Given the description of an element on the screen output the (x, y) to click on. 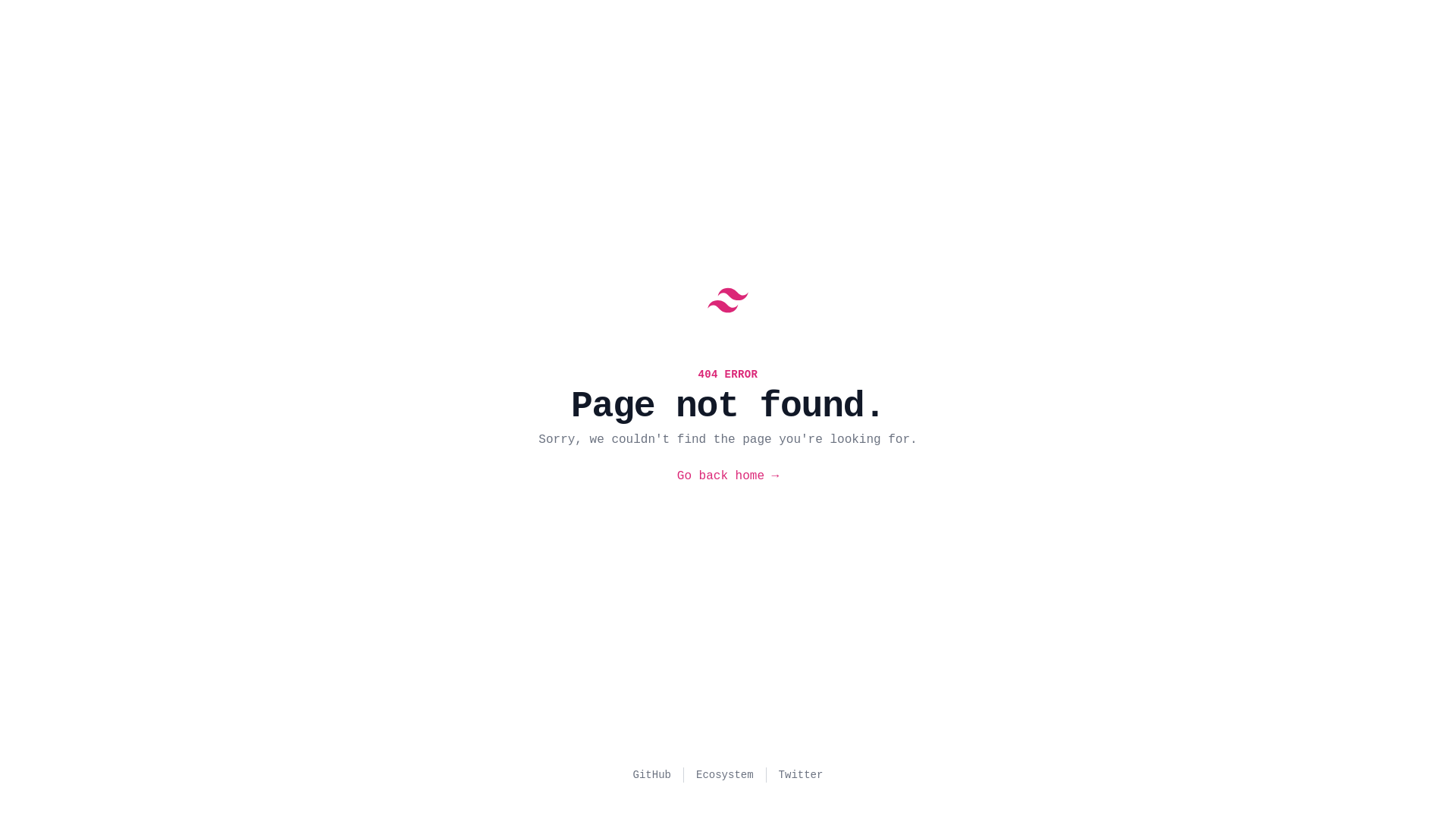
GitHub Element type: text (652, 774)
Twitter Element type: text (800, 774)
Ecosystem Element type: text (724, 774)
Maid Element type: text (727, 300)
